Given the description of an element on the screen output the (x, y) to click on. 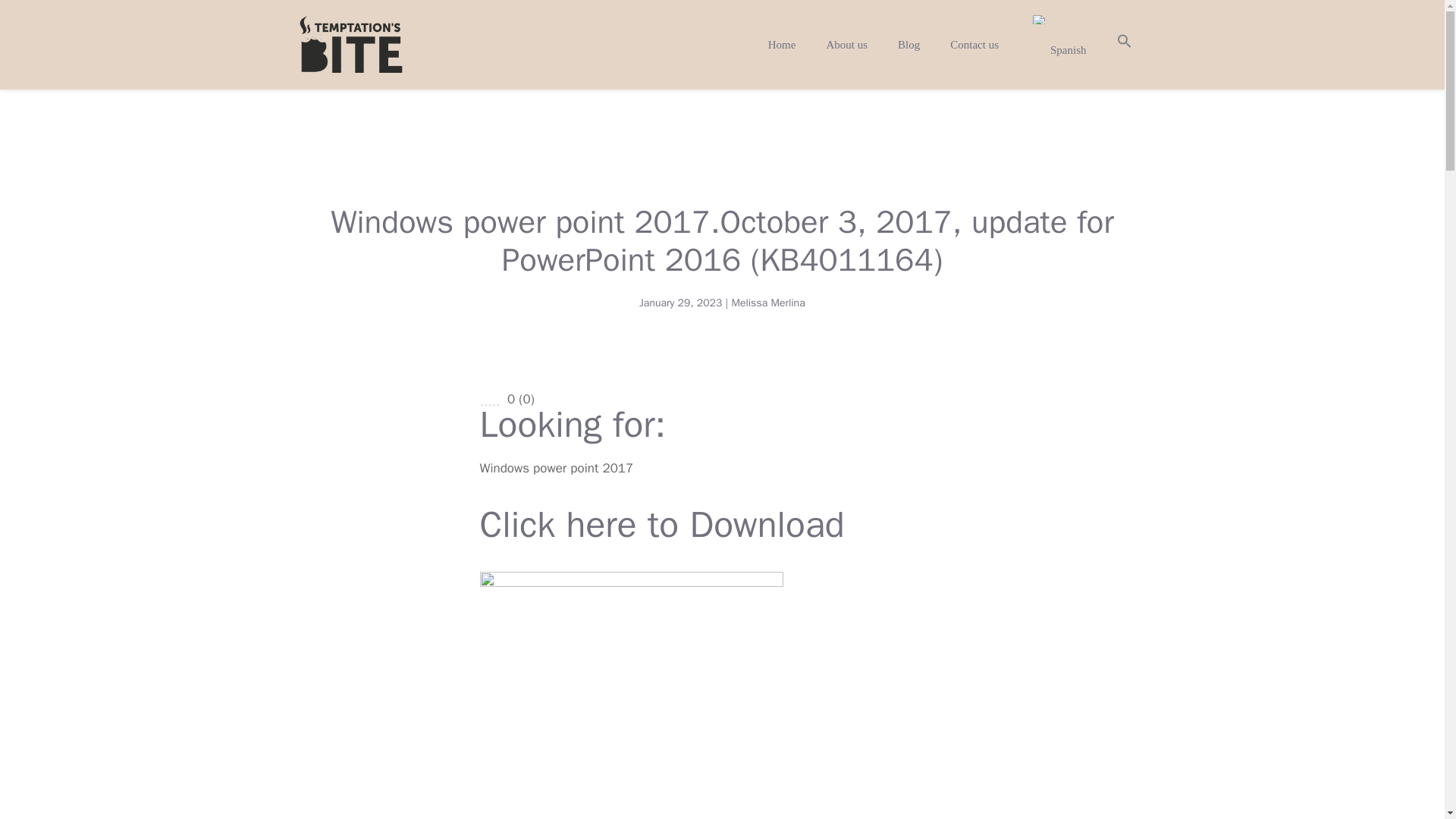
Spanish (1039, 19)
Spanish (1057, 43)
Contact us (973, 44)
View all posts by Melissa Merlina (767, 302)
Blog (908, 44)
Temptation's Bite (350, 43)
Melissa Merlina (767, 302)
Click here to Download (661, 532)
Temptation's Bite (350, 44)
About us (846, 44)
